Given the description of an element on the screen output the (x, y) to click on. 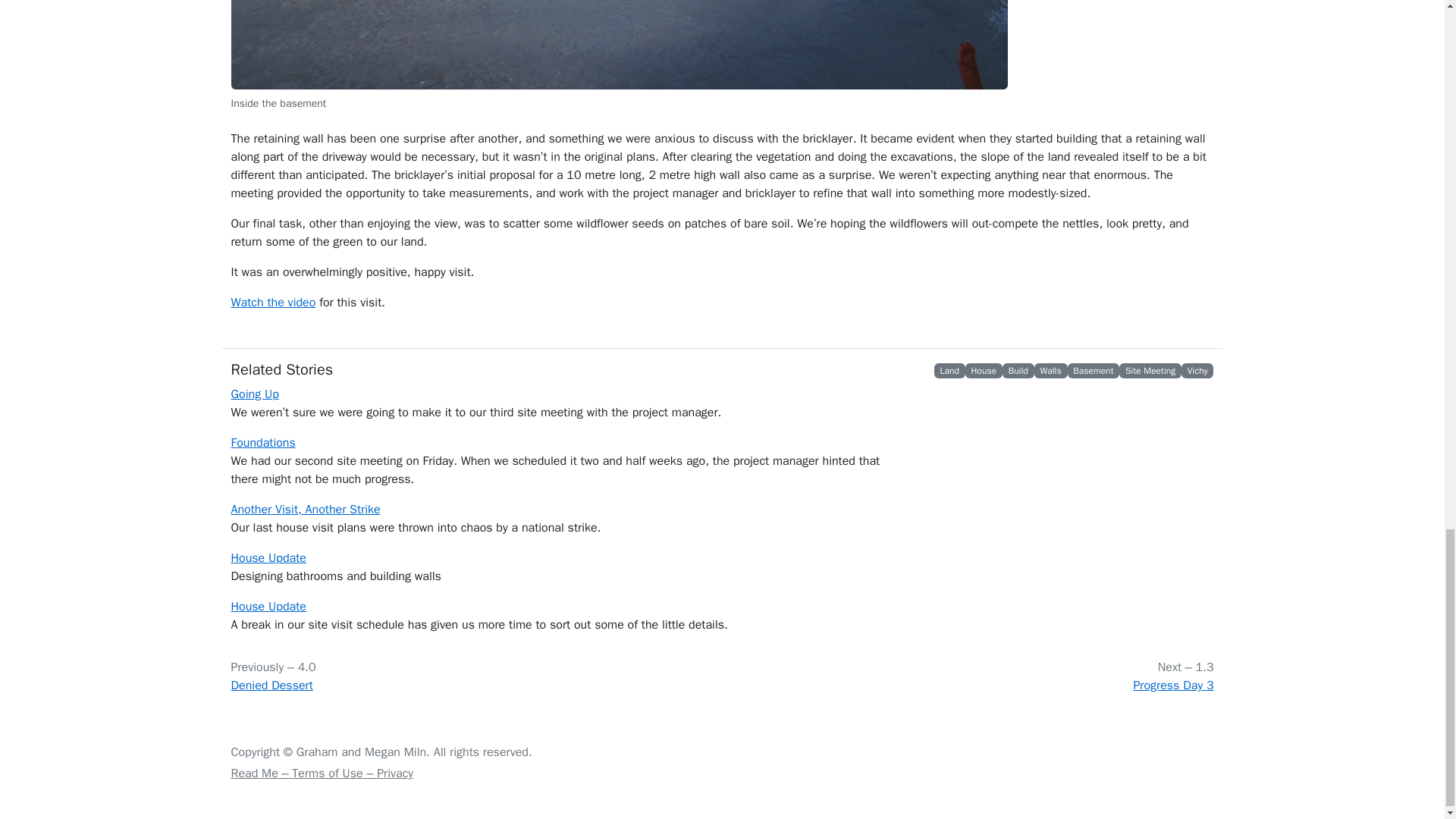
Basement (1093, 370)
Going Up (254, 394)
Build (1018, 370)
House Update (267, 557)
Denied Dessert (271, 685)
House (984, 370)
Walls (1050, 370)
Another Visit, Another Strike (305, 509)
House Update (267, 606)
Inside the basement (618, 44)
Progress Day 3 (1172, 685)
Site Meeting (1149, 370)
Foundations (262, 442)
Watch the video (272, 302)
Land (949, 370)
